Given the description of an element on the screen output the (x, y) to click on. 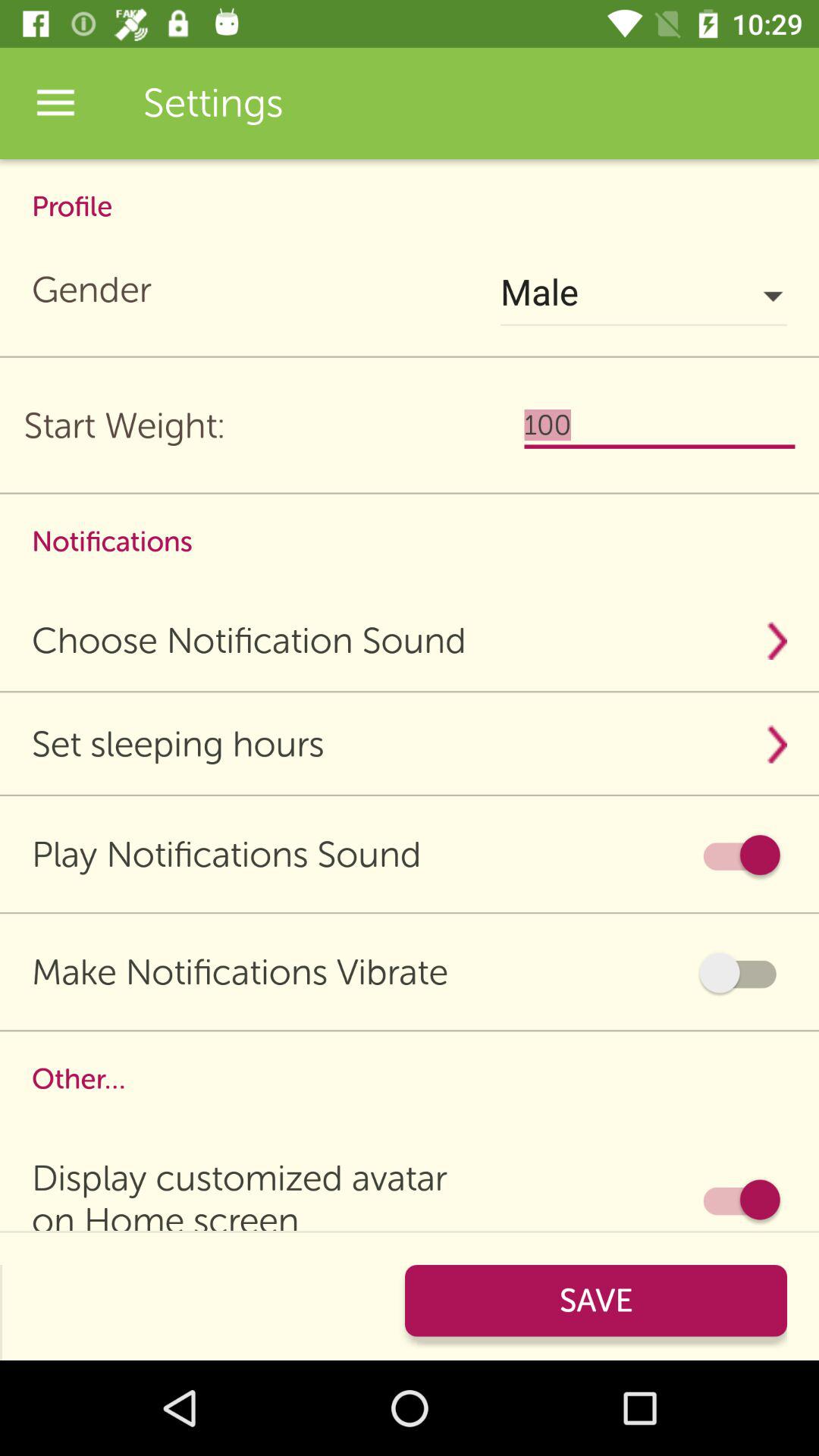
flip to the 100 icon (659, 425)
